Given the description of an element on the screen output the (x, y) to click on. 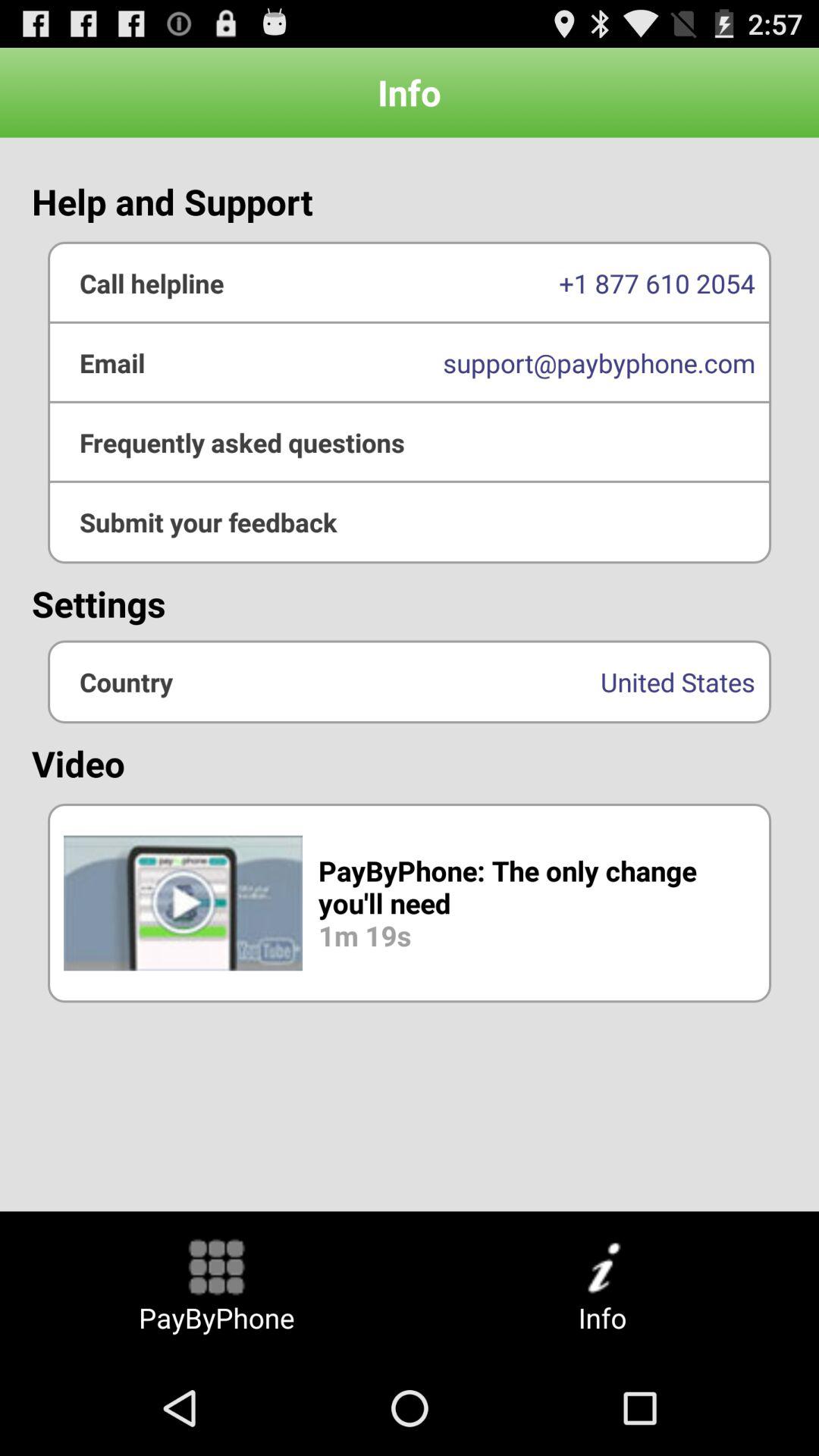
select the support@paybyphone.com item (409, 362)
